Given the description of an element on the screen output the (x, y) to click on. 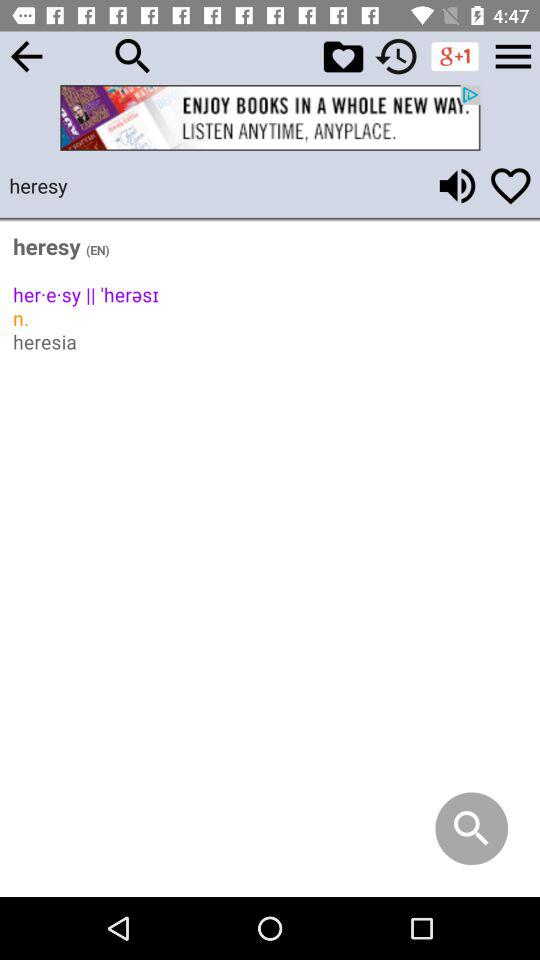
save to favorites (343, 56)
